Given the description of an element on the screen output the (x, y) to click on. 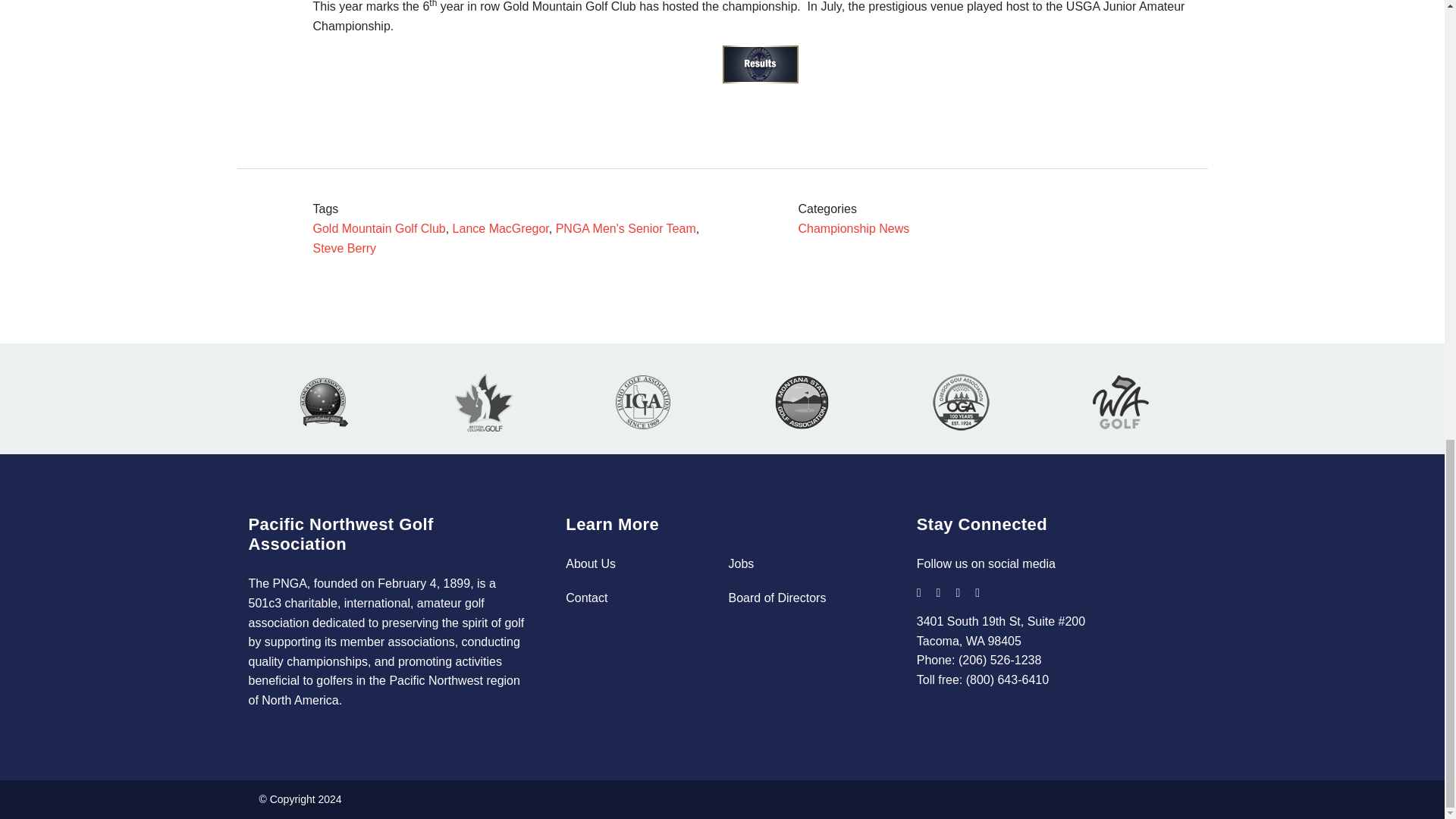
Results (759, 64)
